Given the description of an element on the screen output the (x, y) to click on. 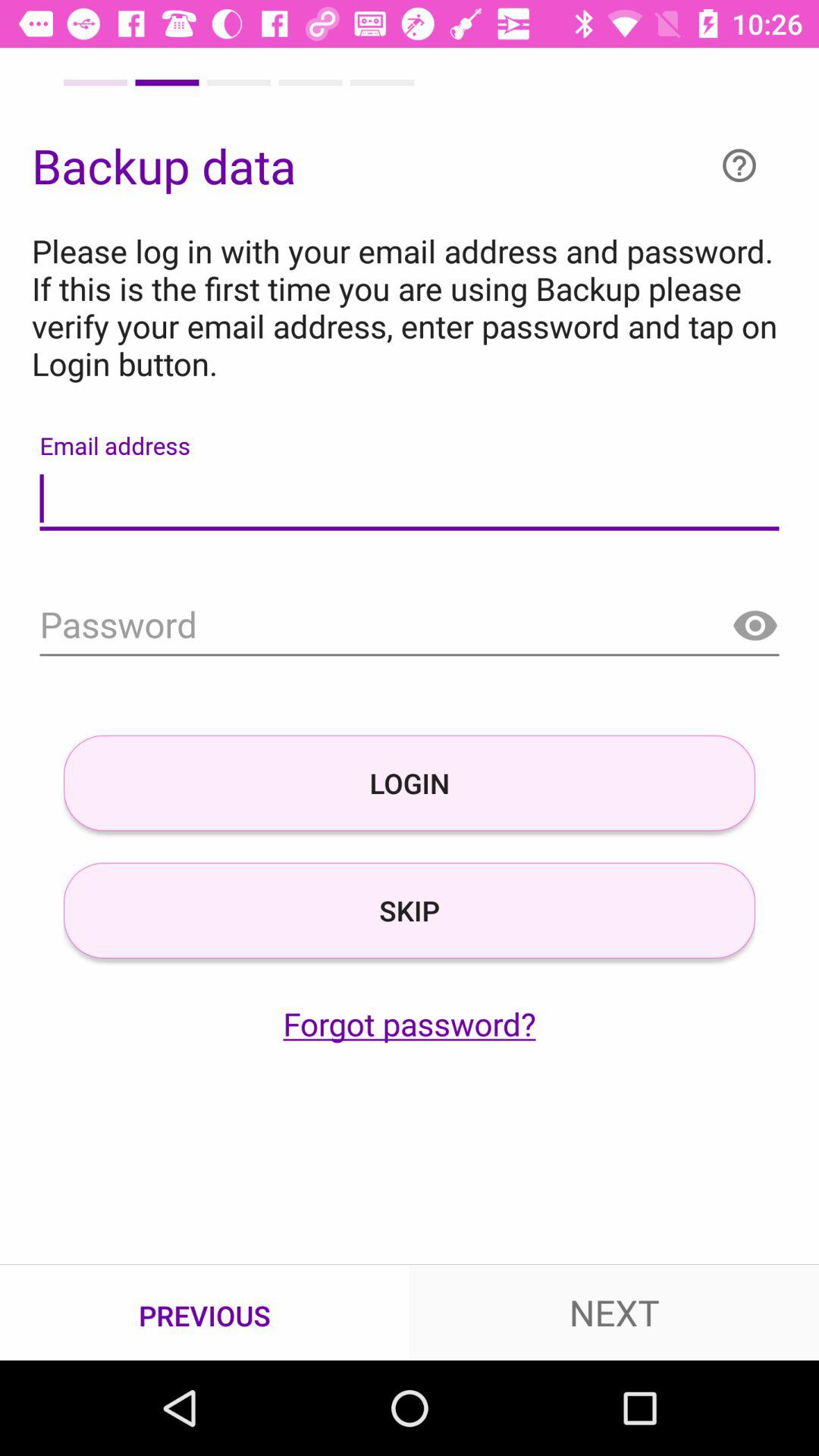
password field (409, 626)
